Given the description of an element on the screen output the (x, y) to click on. 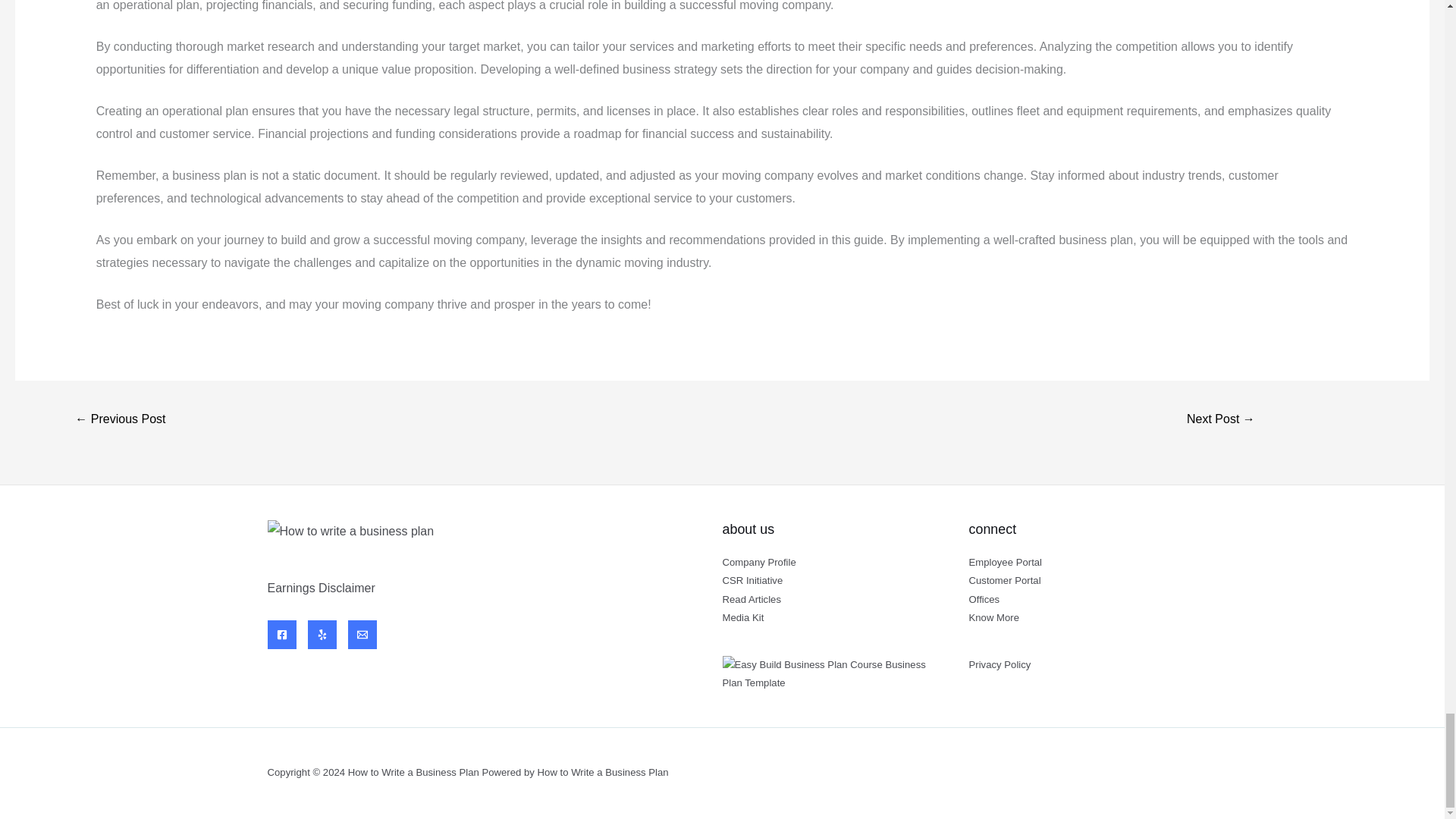
Business Plan for Grocery Store (1220, 420)
Business Plan for YouTube (119, 420)
Offices (984, 599)
Media Kit (742, 617)
Employee Portal (1005, 562)
Earnings Disclaimer (320, 587)
Customer Portal (1005, 580)
Company Profile (758, 562)
Privacy Policy (999, 664)
CSR Initiative (752, 580)
